Given the description of an element on the screen output the (x, y) to click on. 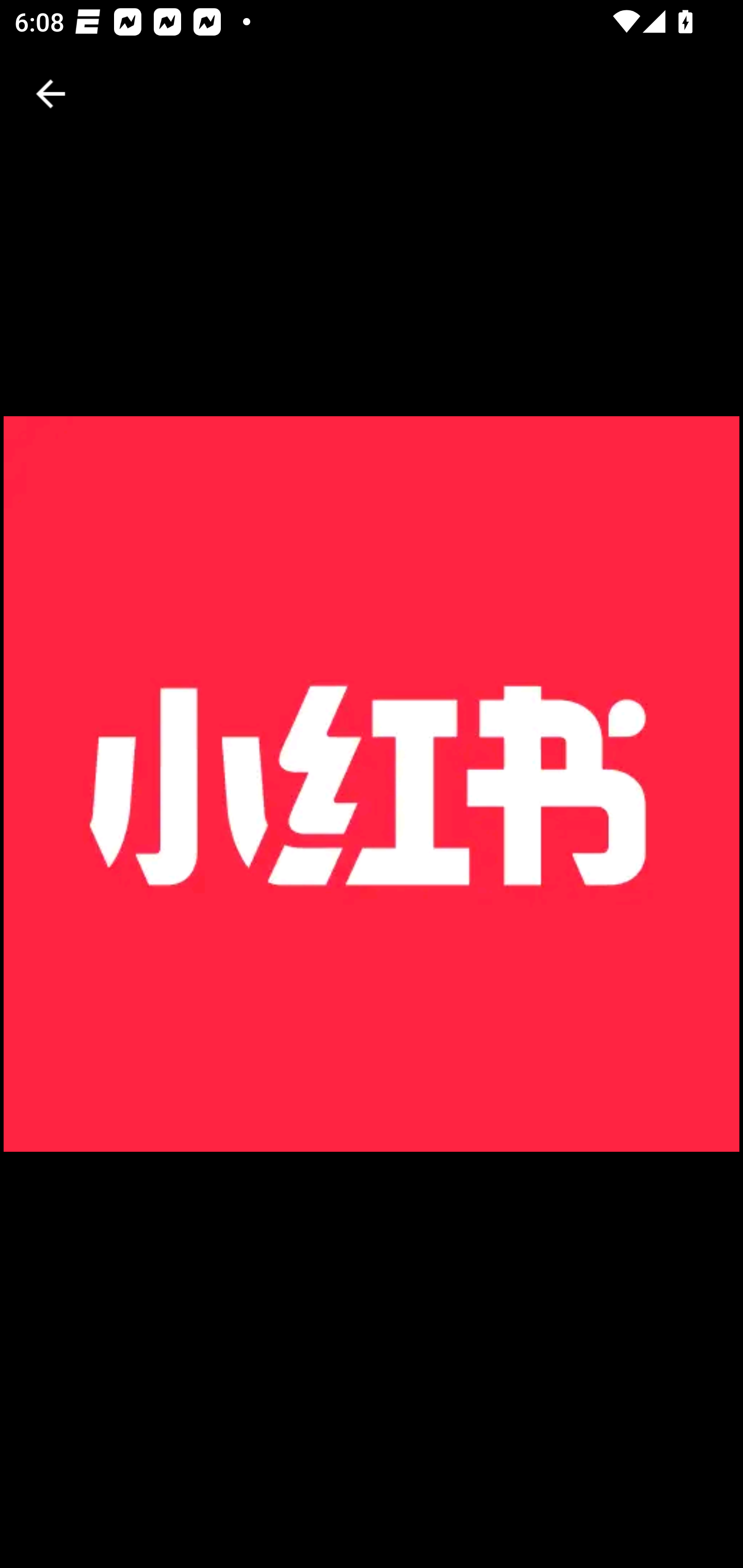
Back (50, 93)
